Given the description of an element on the screen output the (x, y) to click on. 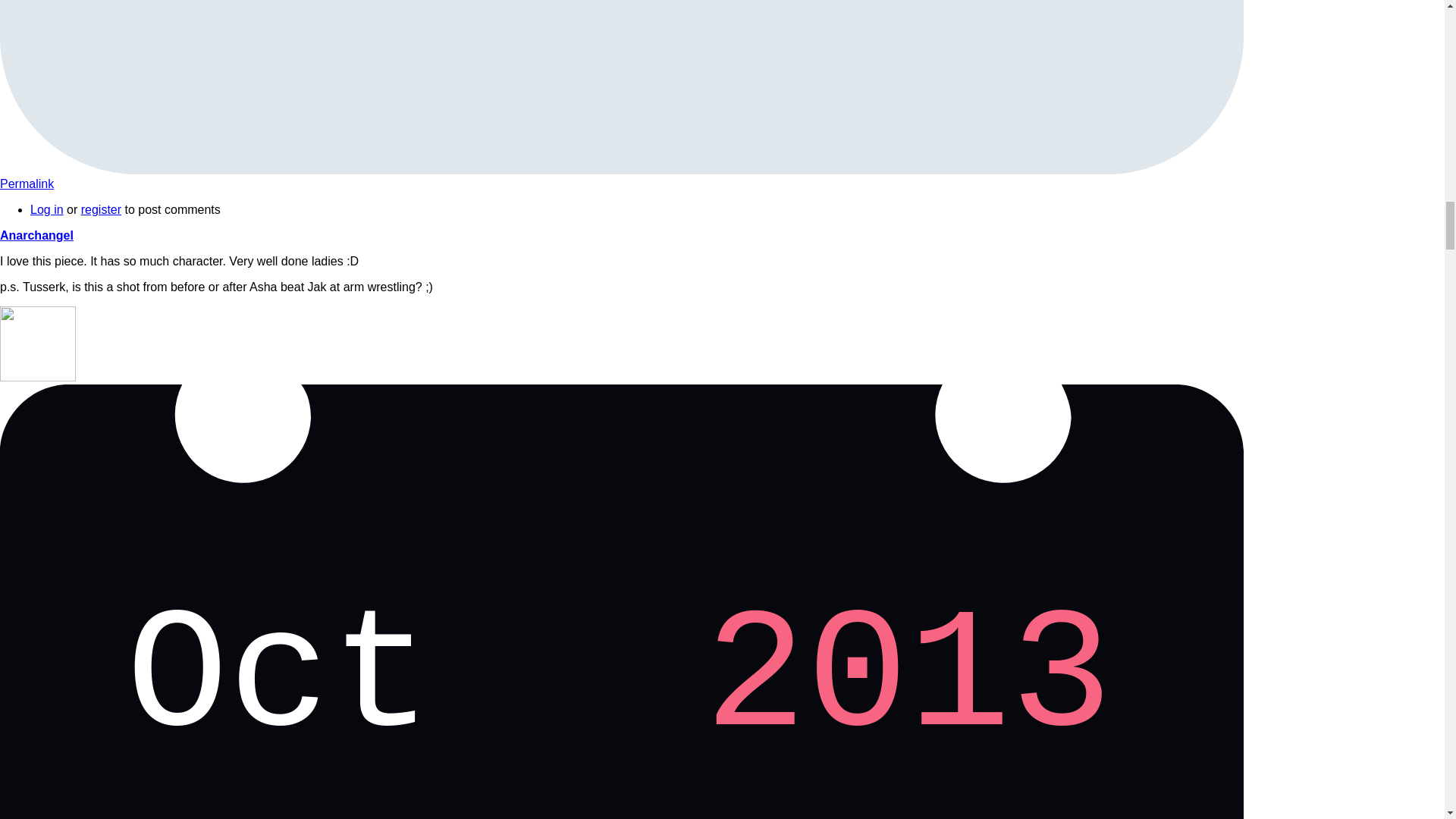
Anarchangel (37, 235)
View user profile. (37, 235)
Permalink (100, 209)
